Given the description of an element on the screen output the (x, y) to click on. 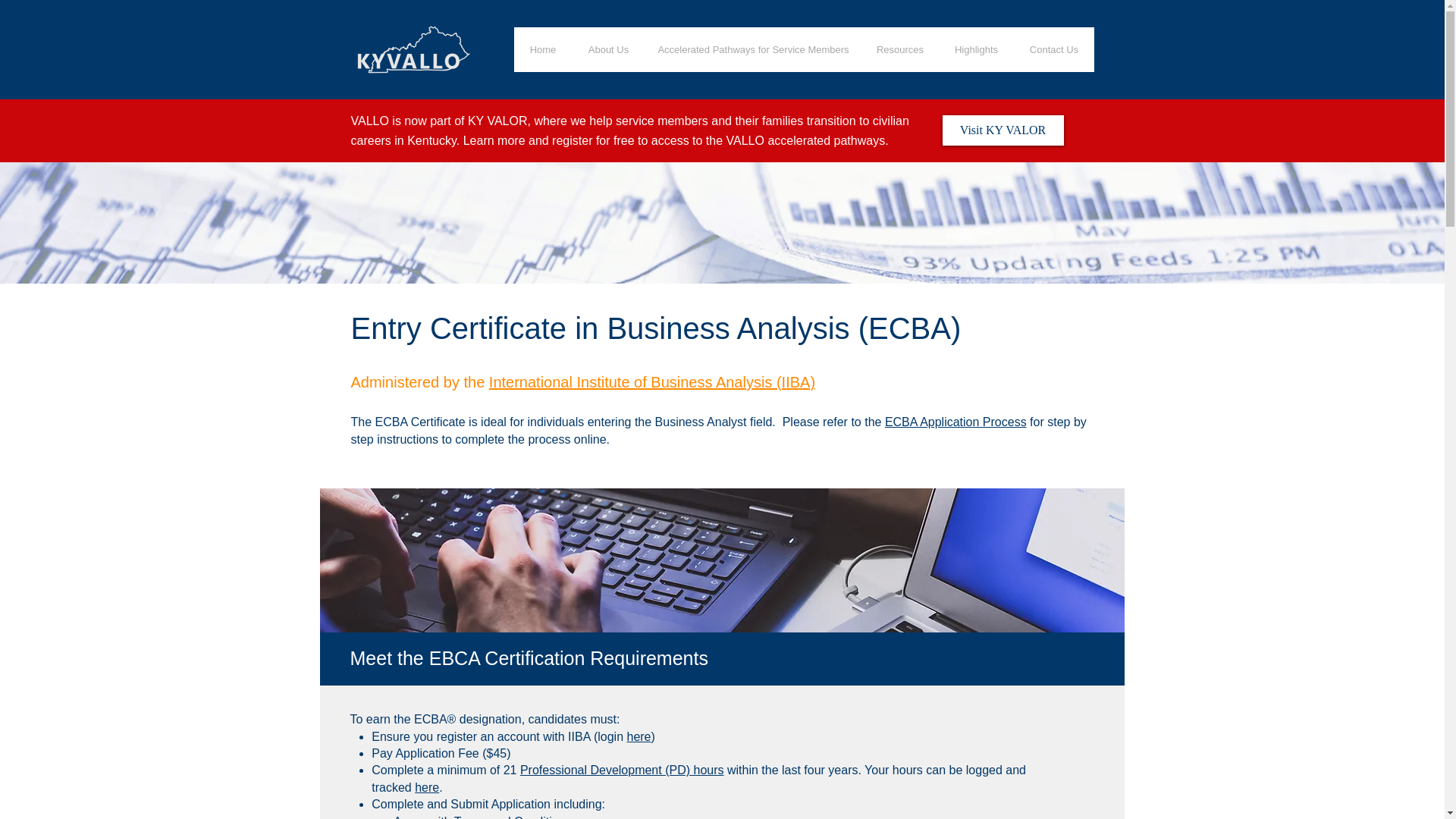
Resources (899, 49)
Agree with Terms and Conditions. (484, 816)
here (638, 736)
Accelerated Pathways for Service Members (753, 49)
Contact Us (1054, 49)
here (426, 787)
ECBA Application Process (955, 421)
Visit KY VALOR (1002, 130)
Home (542, 49)
About Us (608, 49)
Highlights (976, 49)
